Given the description of an element on the screen output the (x, y) to click on. 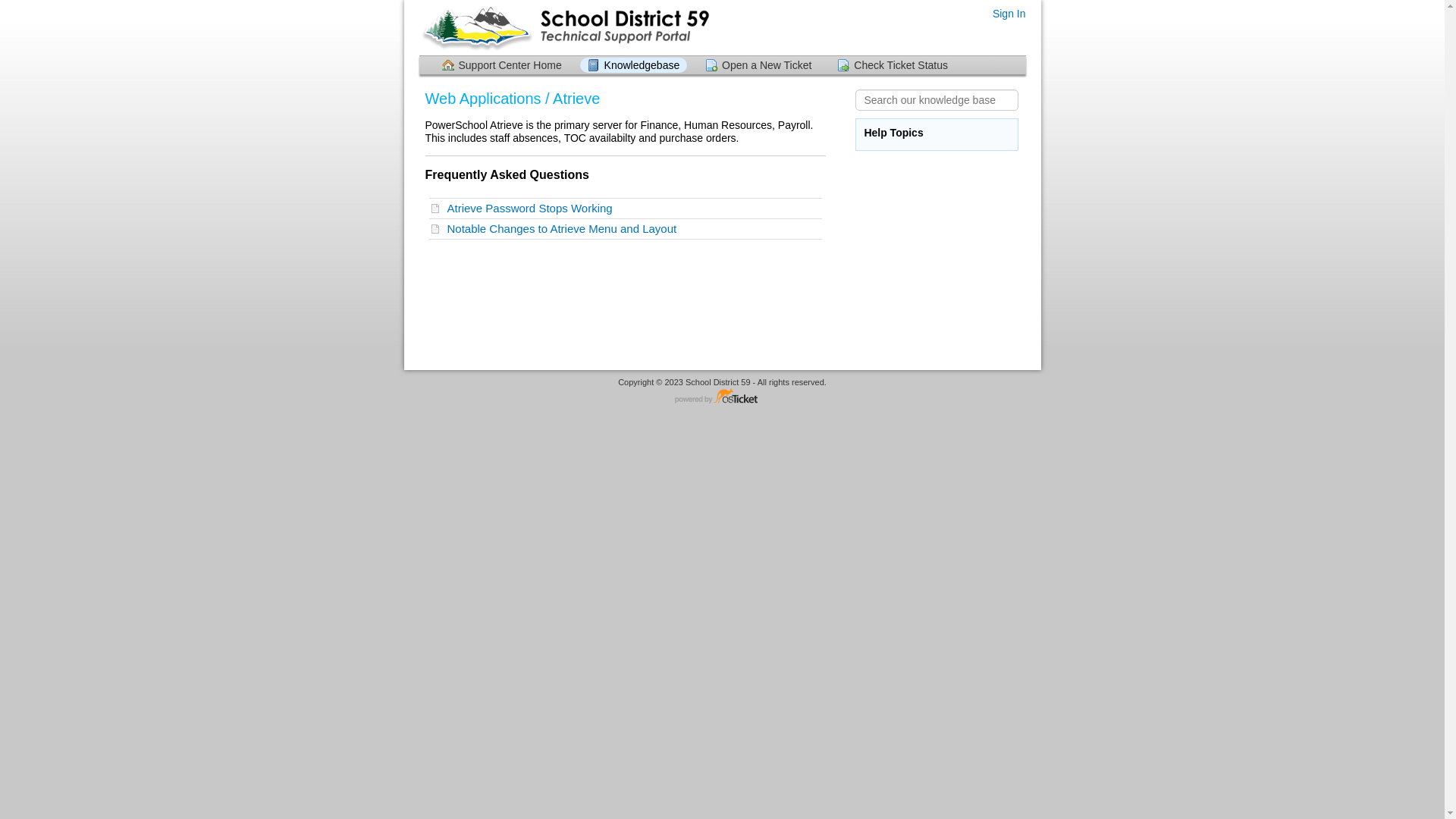
Support Center Element type: hover (563, 26)
Open a New Ticket Element type: text (758, 64)
Notable Changes to Atrieve Menu and Layout   Element type: text (625, 229)
search Element type: text (21, 8)
Support Center Home Element type: text (500, 64)
Atrieve Password Stops Working   Element type: text (625, 208)
Sign In Element type: text (1009, 13)
Helpdesk software - powered by osTicket Element type: text (722, 396)
Check Ticket Status Element type: text (892, 64)
Knowledgebase Element type: text (633, 64)
